Given the description of an element on the screen output the (x, y) to click on. 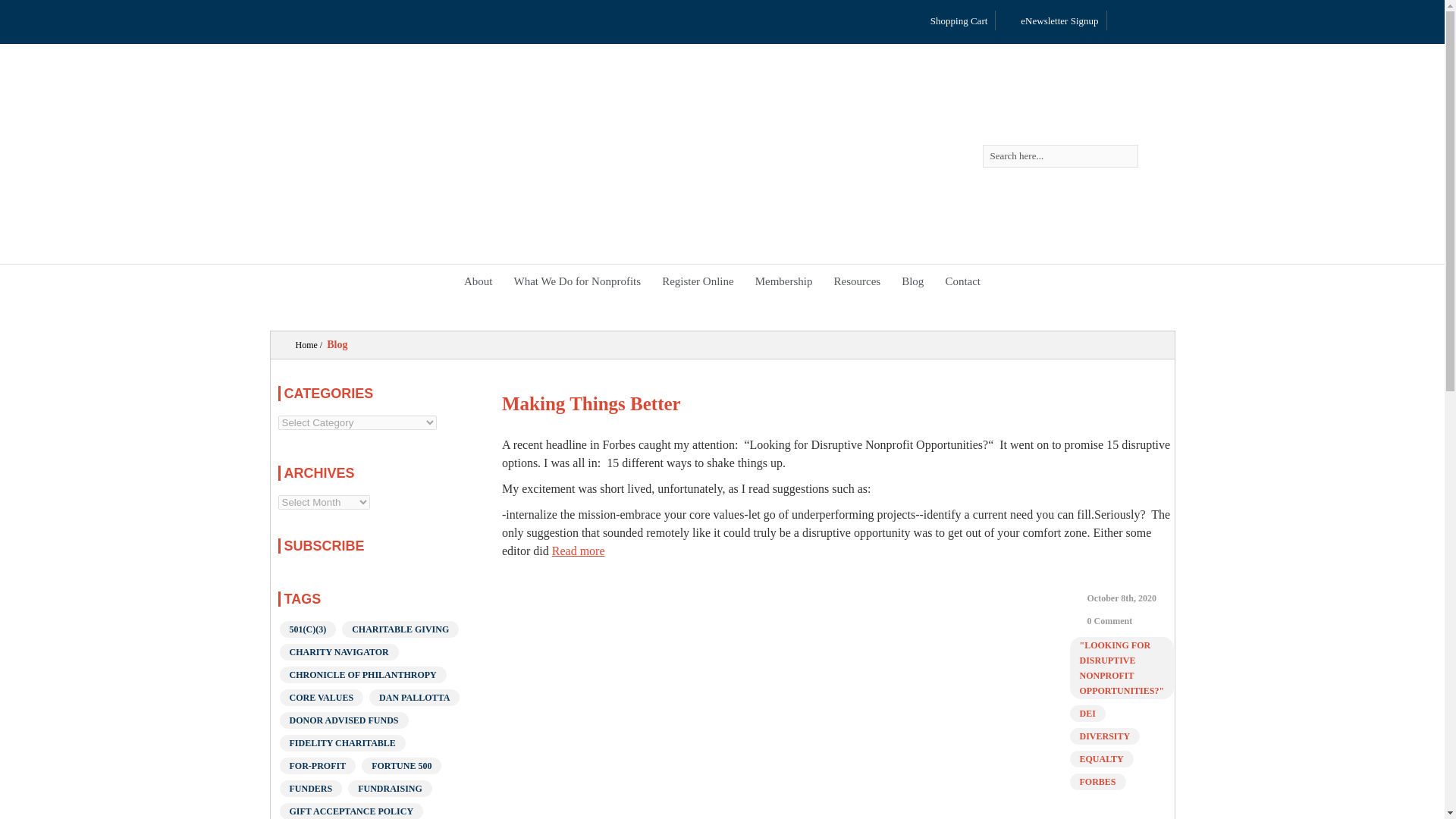
Blog (912, 281)
Membership (784, 281)
Shopping Cart (949, 21)
Search here... (1060, 155)
Contact (962, 281)
Facebook (1165, 24)
Search (1155, 156)
About (477, 281)
Linked In (1123, 24)
What We Do for Nonprofits (576, 281)
Register Online (697, 281)
eNewsletter Signup (1050, 21)
Twitter (1144, 24)
Resources (857, 281)
